Given the description of an element on the screen output the (x, y) to click on. 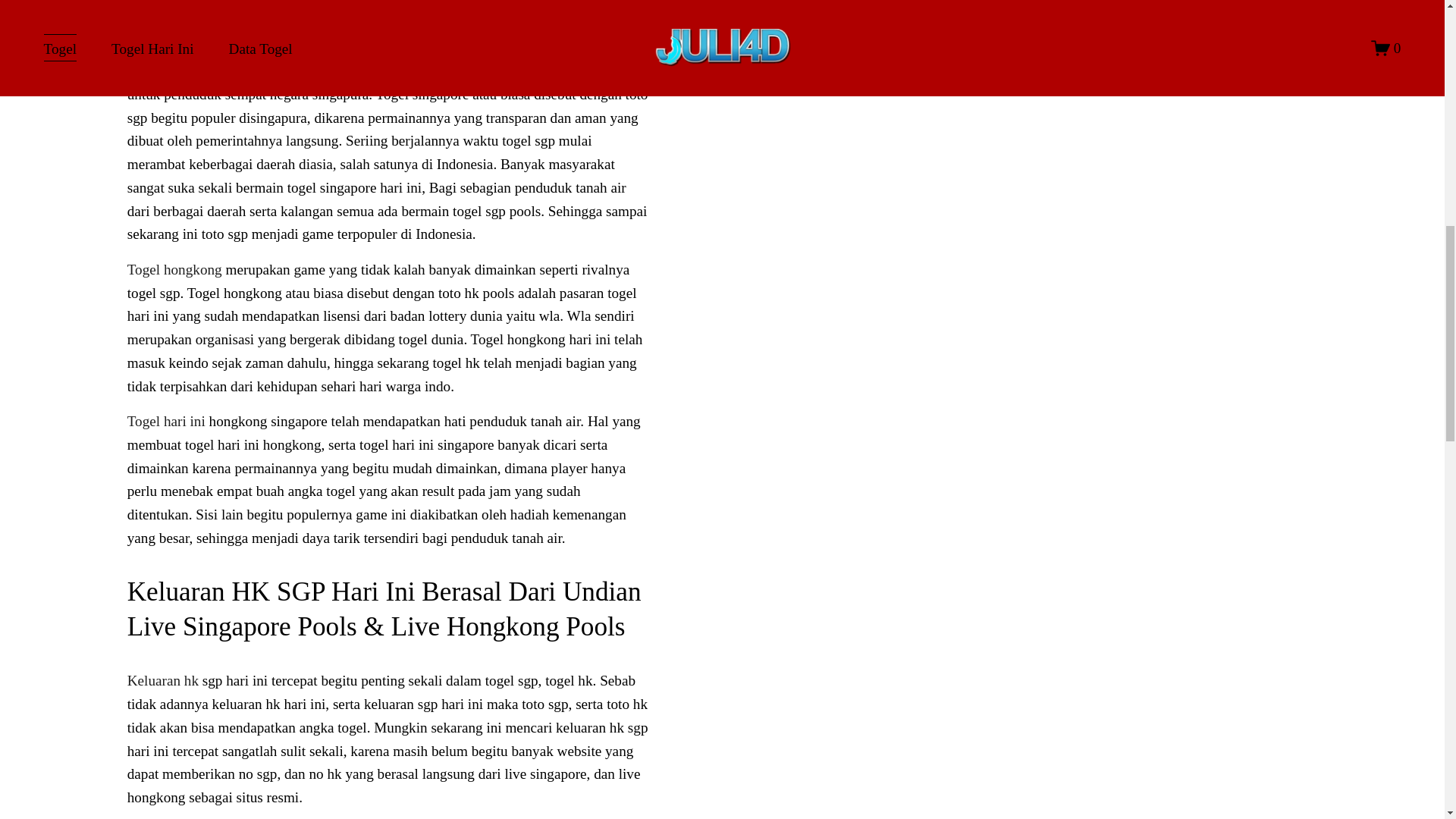
Keluaran hk (163, 680)
Togel singapore (174, 70)
Togel hongkong (175, 269)
Togel hari ini (166, 421)
